Given the description of an element on the screen output the (x, y) to click on. 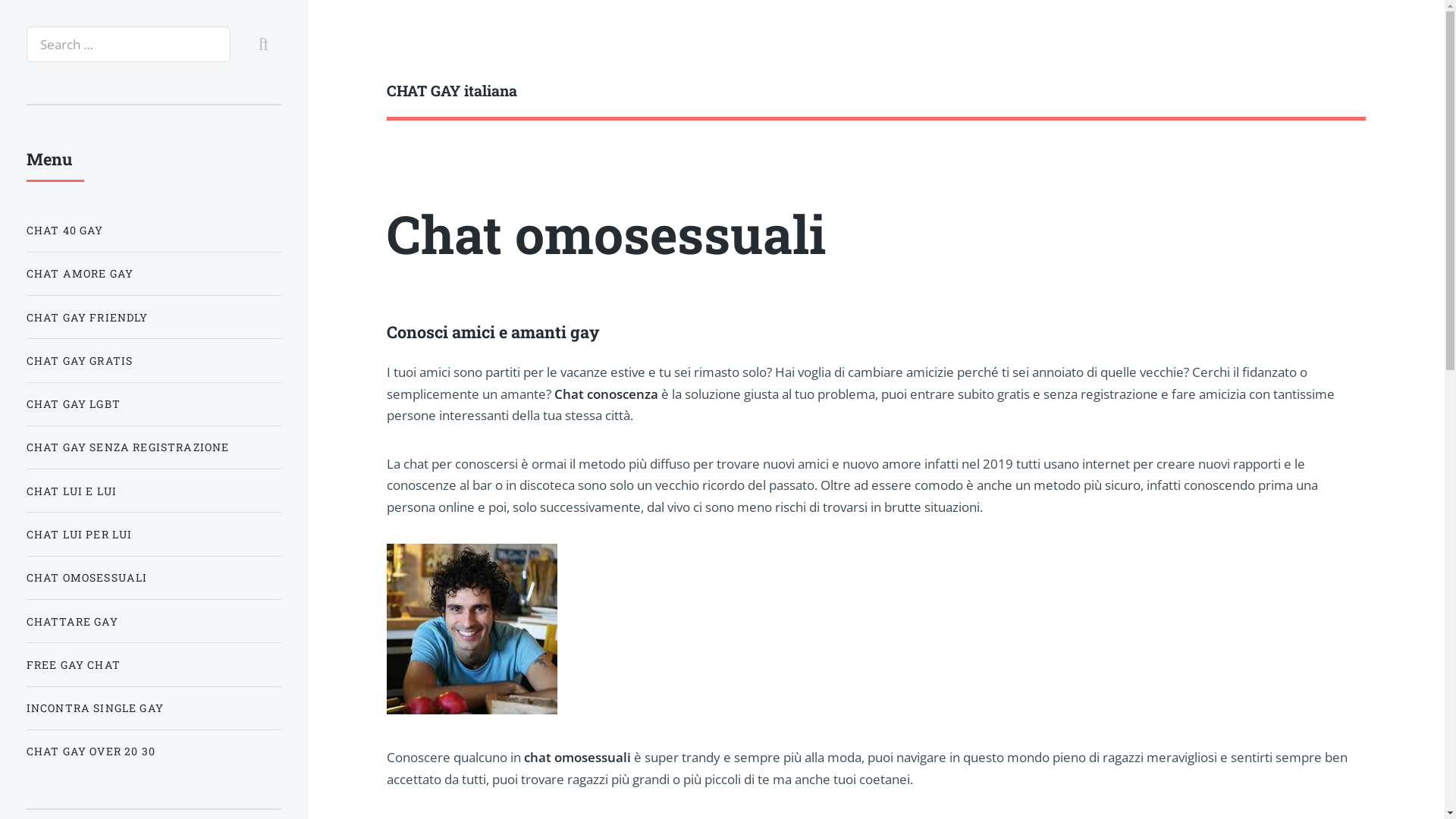
CHAT OMOSESSUALI Element type: text (153, 577)
CHAT 40 GAY Element type: text (153, 229)
CHAT AMORE GAY Element type: text (153, 272)
INCONTRA SINGLE GAY Element type: text (153, 707)
FREE GAY CHAT Element type: text (153, 664)
CHAT GAY FRIENDLY Element type: text (153, 316)
CHAT GAY LGBT Element type: text (153, 403)
CHAT GAY SENZA REGISTRAZIONE Element type: text (153, 447)
CHAT GAY GRATIS Element type: text (153, 360)
CHAT GAY italiana Element type: text (631, 90)
CHAT GAY OVER 20 30 Element type: text (153, 751)
CHAT LUI PER LUI Element type: text (153, 533)
CHATTARE GAY Element type: text (153, 621)
CHAT LUI E LUI Element type: text (153, 490)
